Given the description of an element on the screen output the (x, y) to click on. 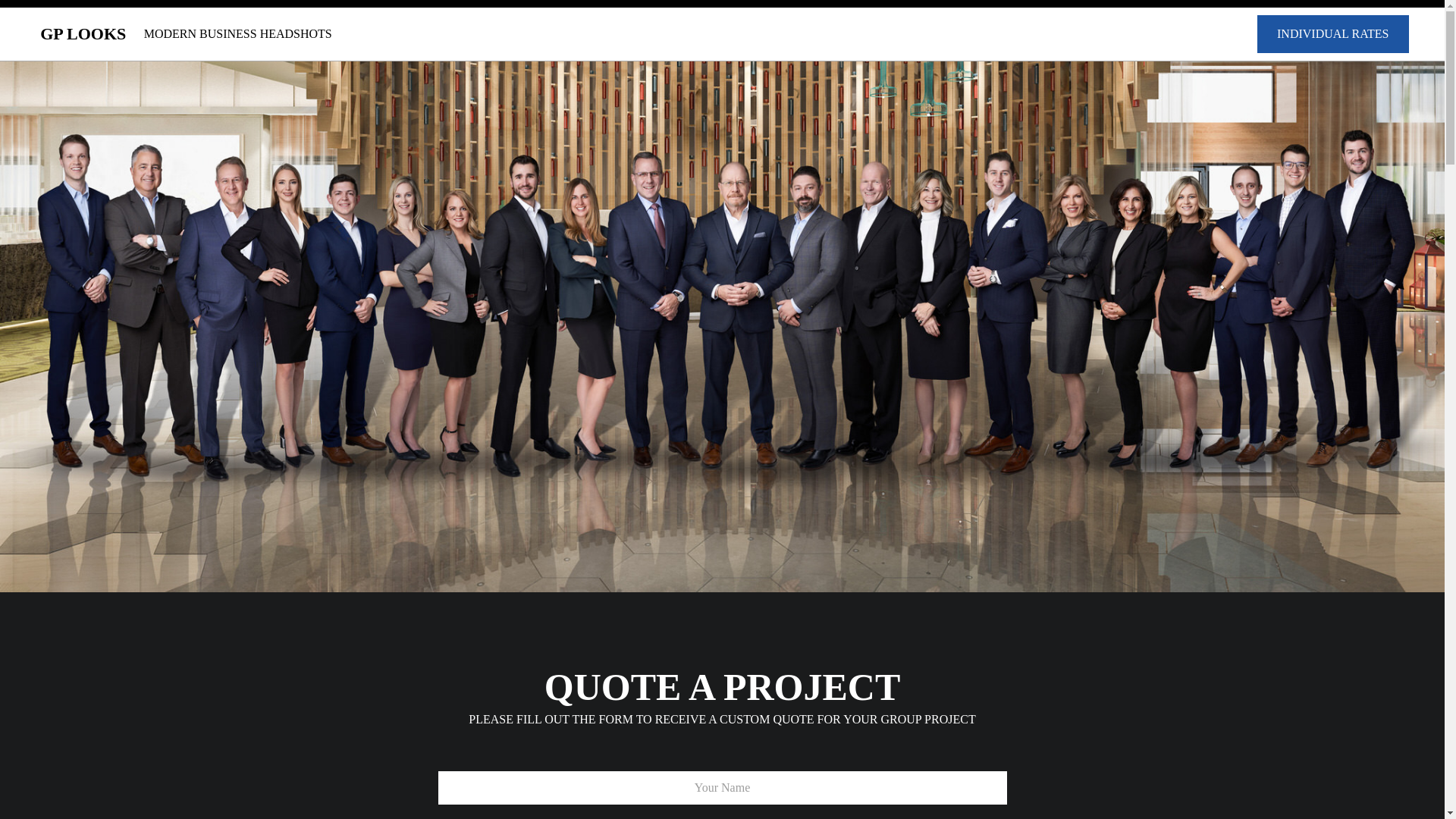
INDIVIDUAL RATES (1333, 34)
